Given the description of an element on the screen output the (x, y) to click on. 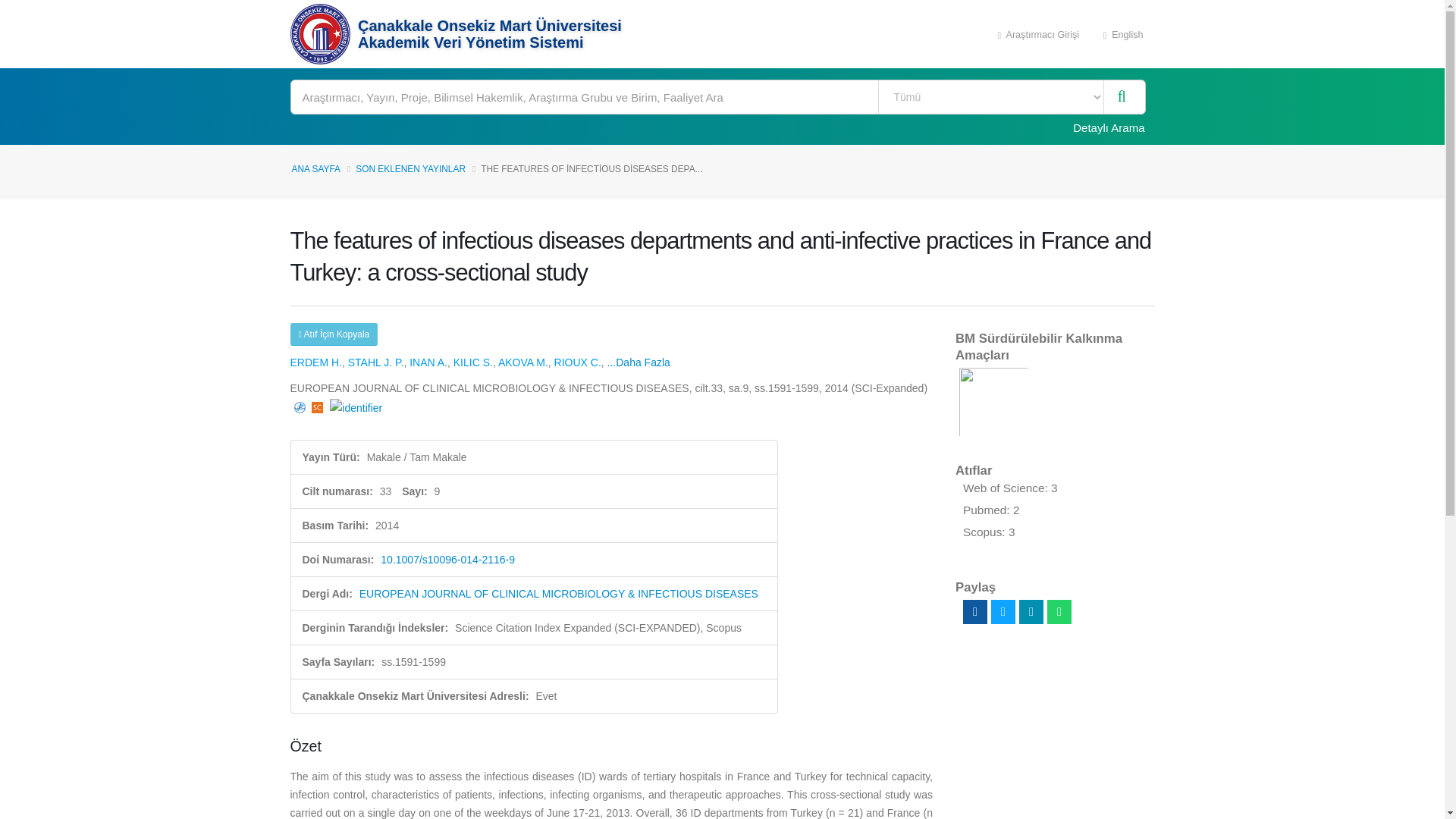
HAKAN ERDEM (314, 362)
SON EKLENEN YAYINLAR (410, 168)
S. KILIC (472, 362)
A. INAN (427, 362)
KILIC S. (472, 362)
English (1123, 33)
AKOVA M. (522, 362)
STAHL J. P. (375, 362)
RIOUX C. (577, 362)
...Daha Fazla (638, 362)
